Given the description of an element on the screen output the (x, y) to click on. 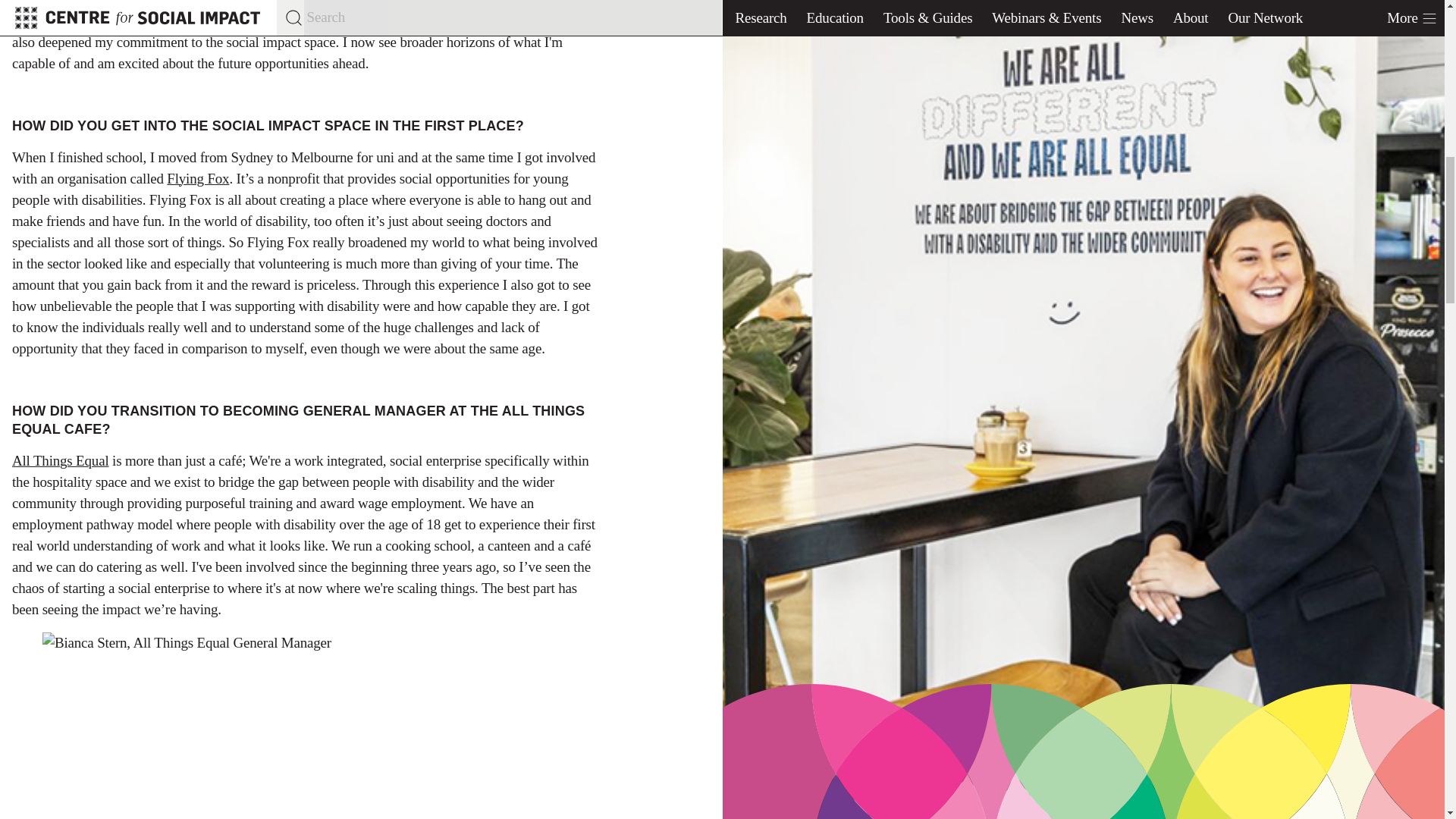
Flying Fox (197, 178)
Graduate Certificate in Social Impact (413, 3)
All Things Equal (60, 460)
